Given the description of an element on the screen output the (x, y) to click on. 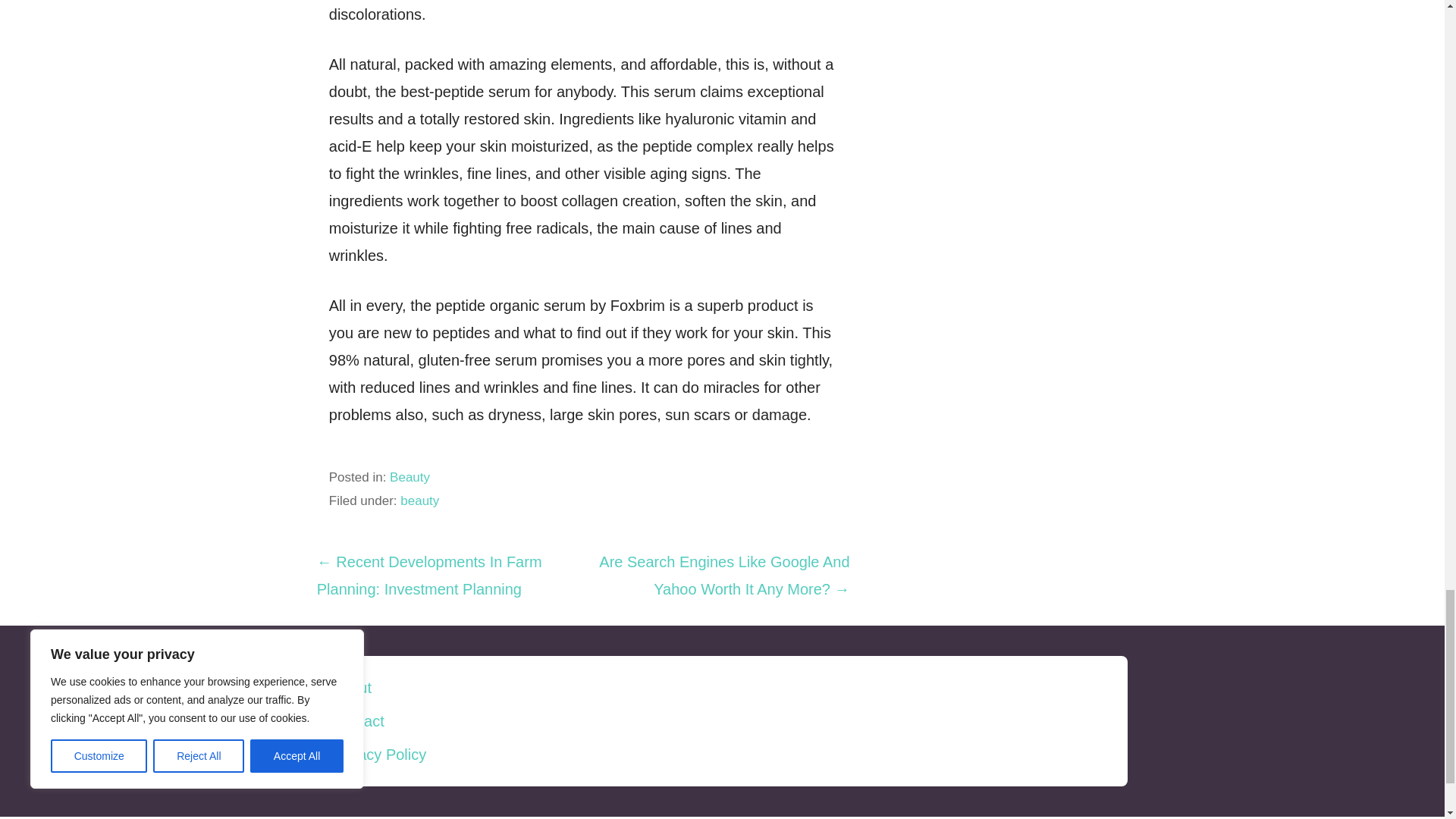
Beauty (409, 477)
beauty (419, 500)
